Given the description of an element on the screen output the (x, y) to click on. 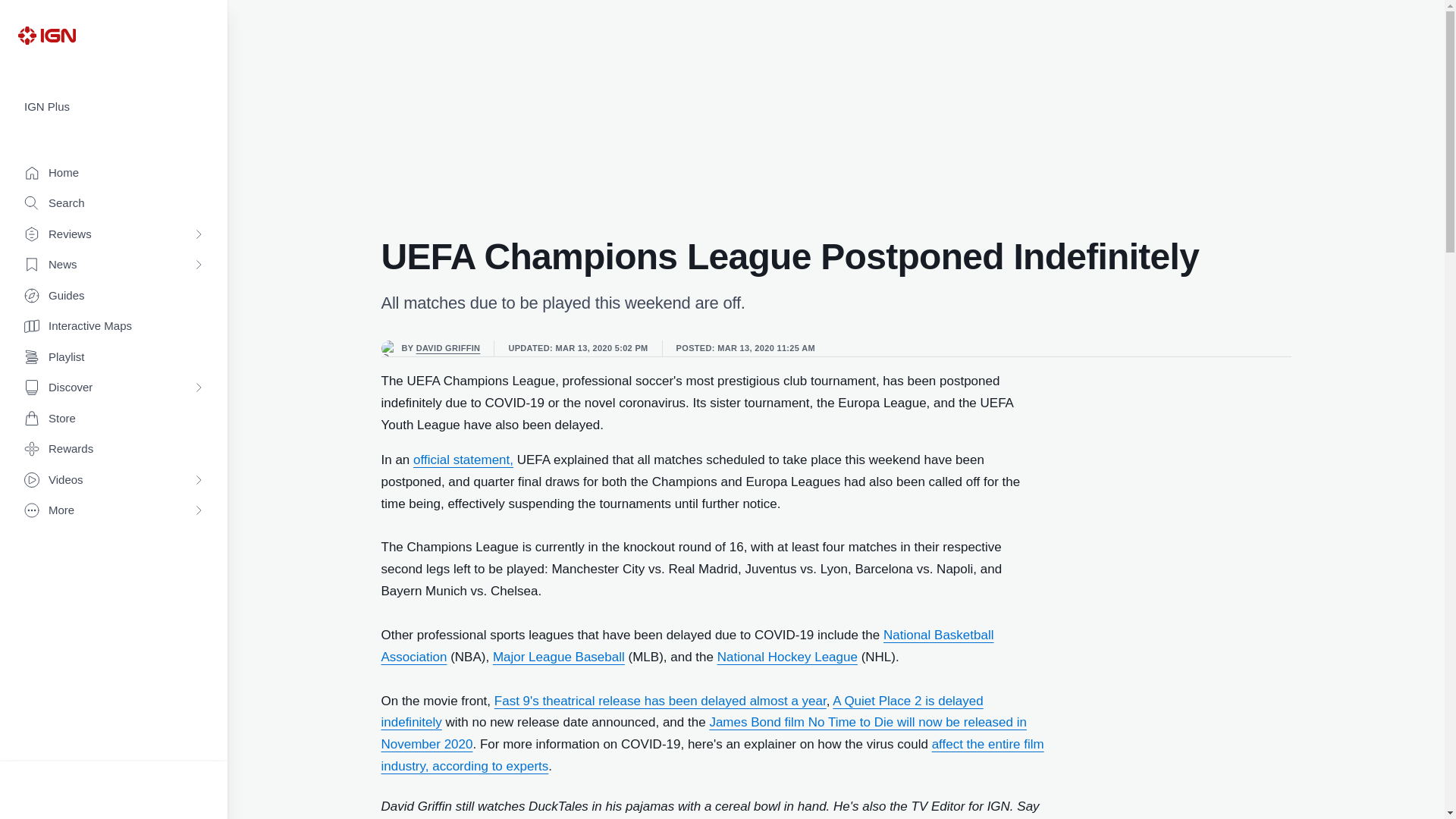
Store (113, 418)
More (113, 510)
IGN Logo (46, 34)
Interactive Maps (113, 326)
IGN Plus (113, 107)
Home (113, 172)
IGN Plus (113, 107)
IGN Logo (46, 35)
Store (113, 418)
Discover (113, 387)
Playlist (113, 357)
Rewards (113, 449)
News (113, 265)
Search (113, 203)
Reviews (113, 234)
